Given the description of an element on the screen output the (x, y) to click on. 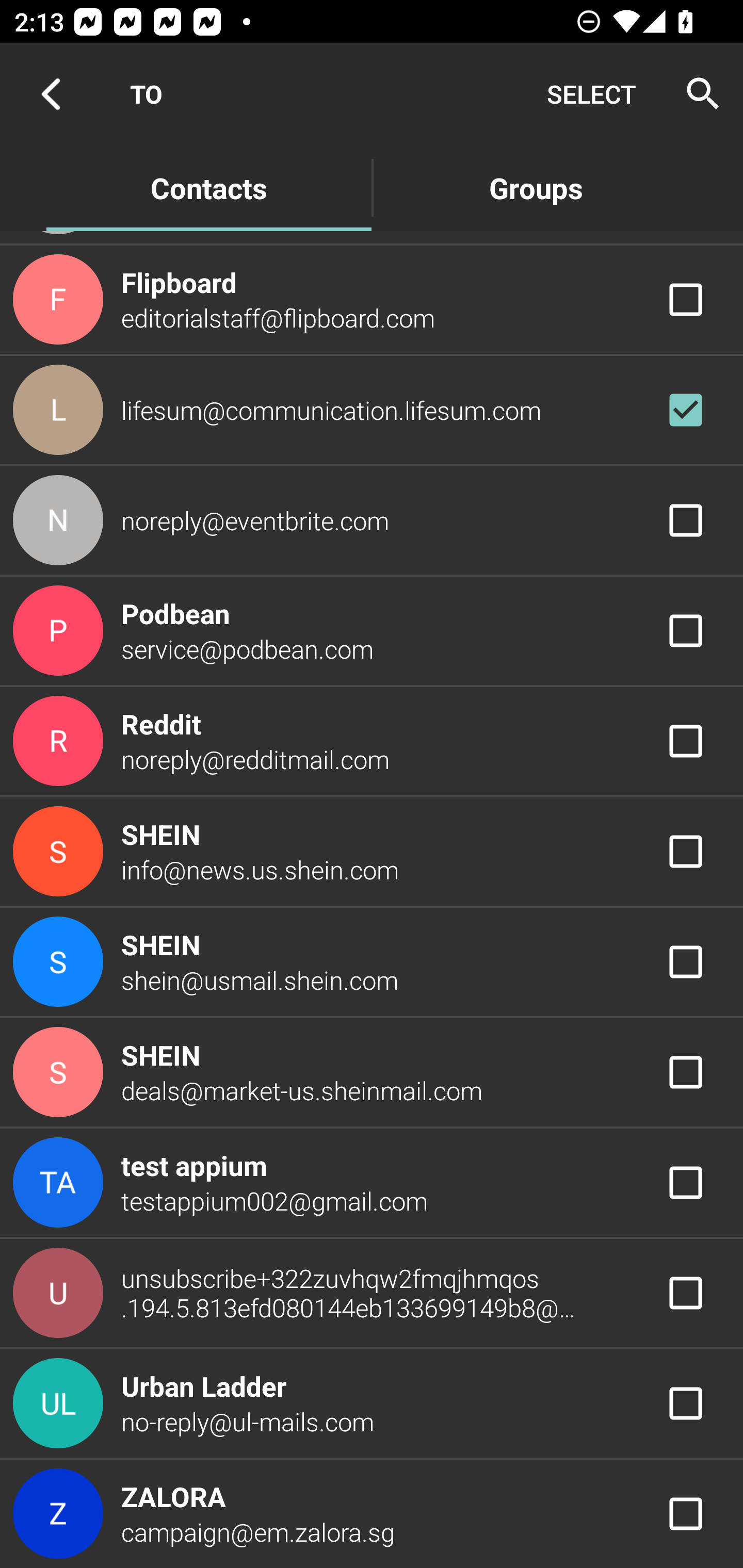
Navigate up (50, 93)
SELECT (590, 93)
Search (696, 93)
Contacts (208, 187)
Groups (535, 187)
Flipboard editorialstaff@flipboard.com (371, 300)
lifesum@communication.lifesum.com (371, 409)
noreply@eventbrite.com (371, 519)
Podbean service@podbean.com (371, 631)
Reddit noreply@redditmail.com (371, 740)
SHEIN info@news.us.shein.com (371, 852)
SHEIN shein@usmail.shein.com (371, 961)
SHEIN deals@market-us.sheinmail.com (371, 1071)
test appium testappium002@gmail.com (371, 1182)
Urban Ladder no-reply@ul-mails.com (371, 1404)
ZALORA campaign@em.zalora.sg (371, 1513)
